Given the description of an element on the screen output the (x, y) to click on. 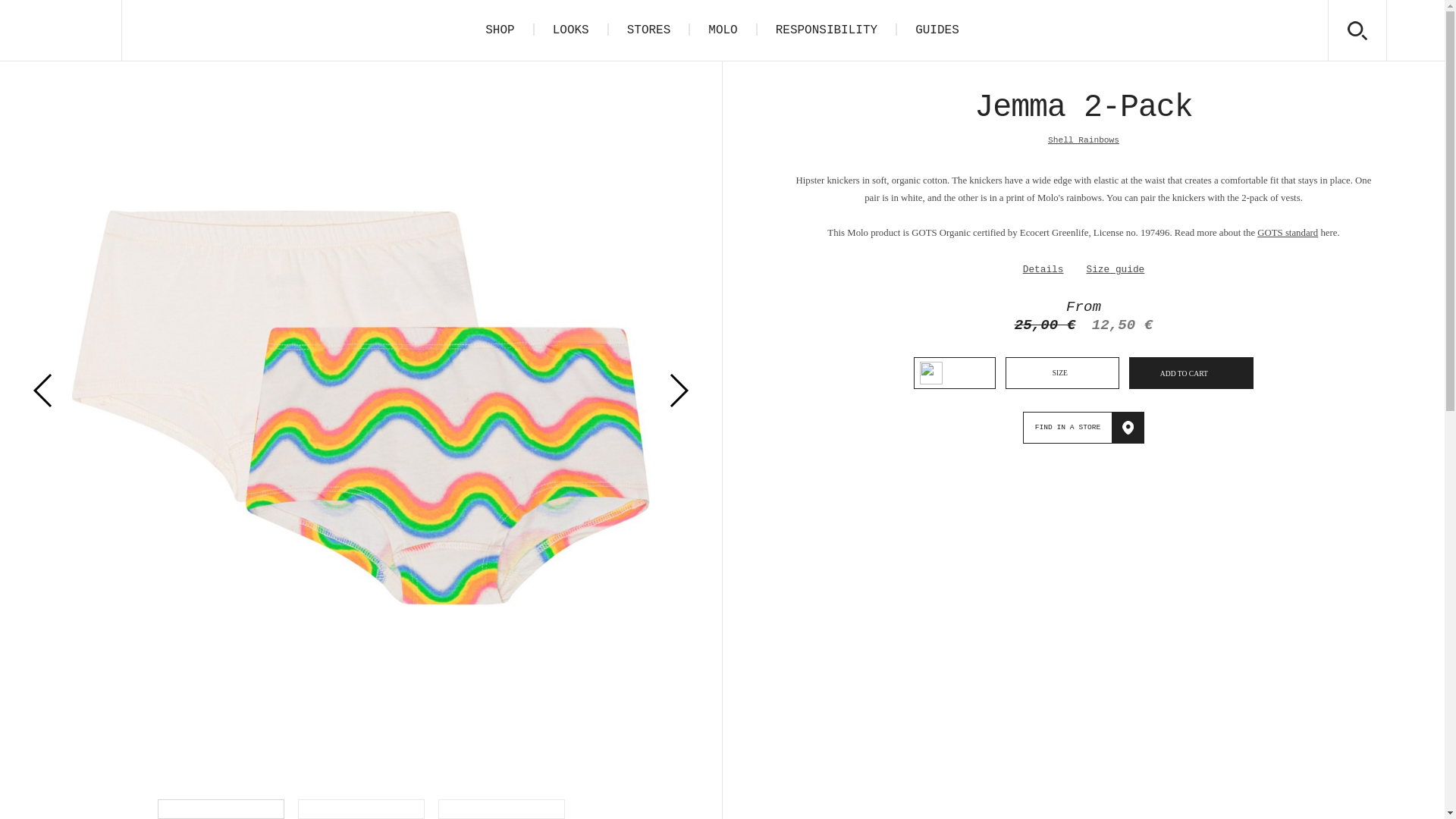
RESPONSIBILITY (826, 30)
GUIDES (937, 30)
SHOP (498, 30)
MOLO (722, 30)
STORES (648, 30)
LOOKS (570, 30)
molo (61, 30)
